Given the description of an element on the screen output the (x, y) to click on. 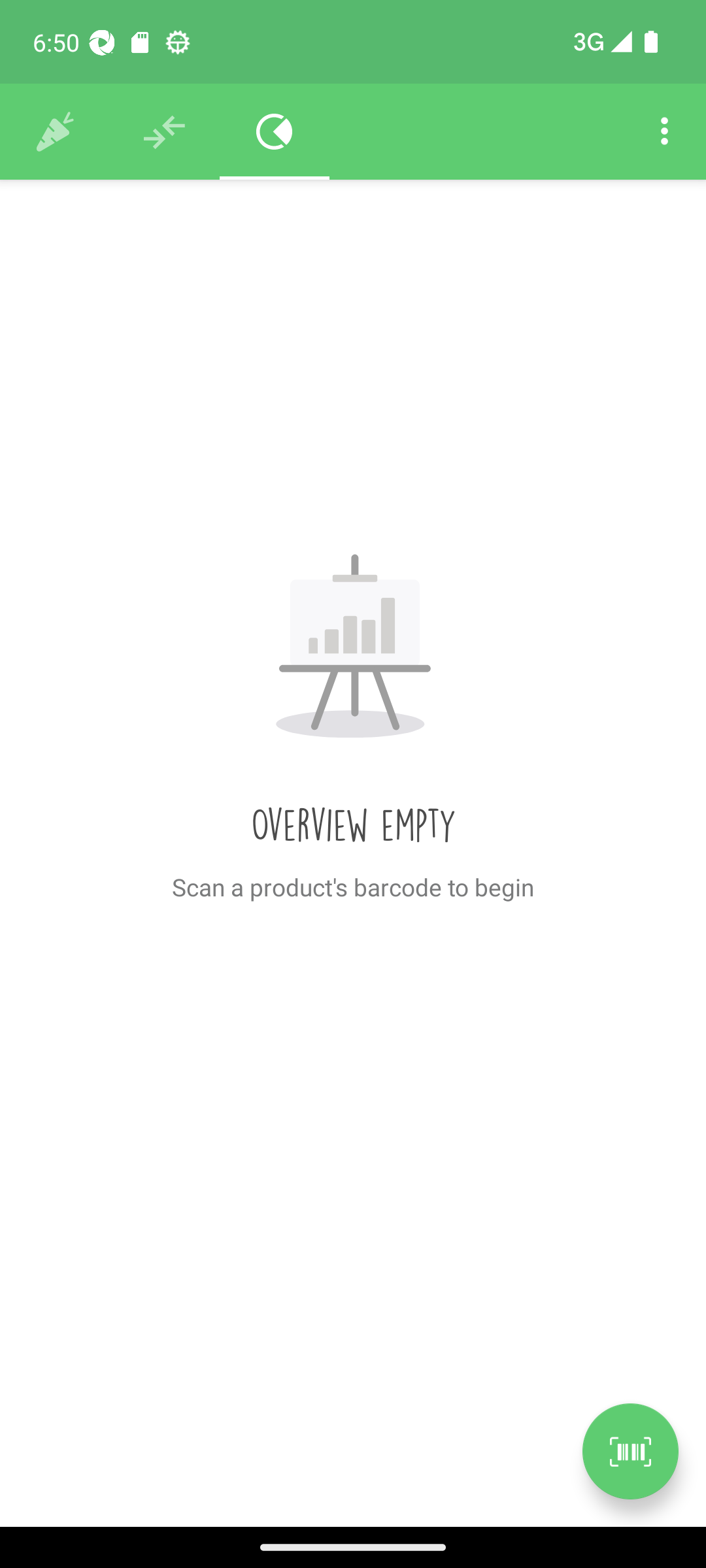
History (55, 131)
Recommendations (164, 131)
Settings (664, 131)
Scan a product (630, 1451)
